Given the description of an element on the screen output the (x, y) to click on. 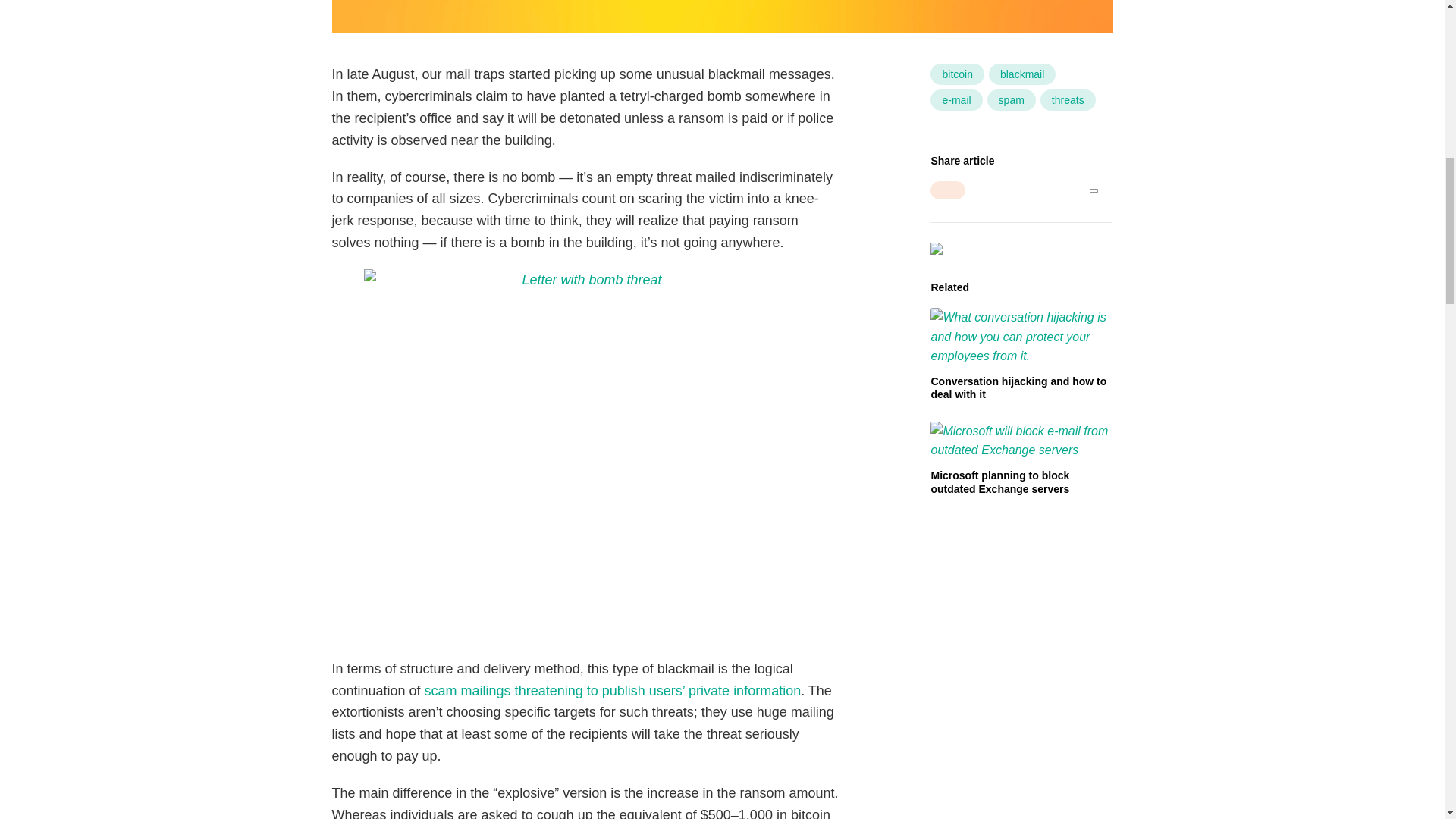
Share Embed (947, 189)
